Given the description of an element on the screen output the (x, y) to click on. 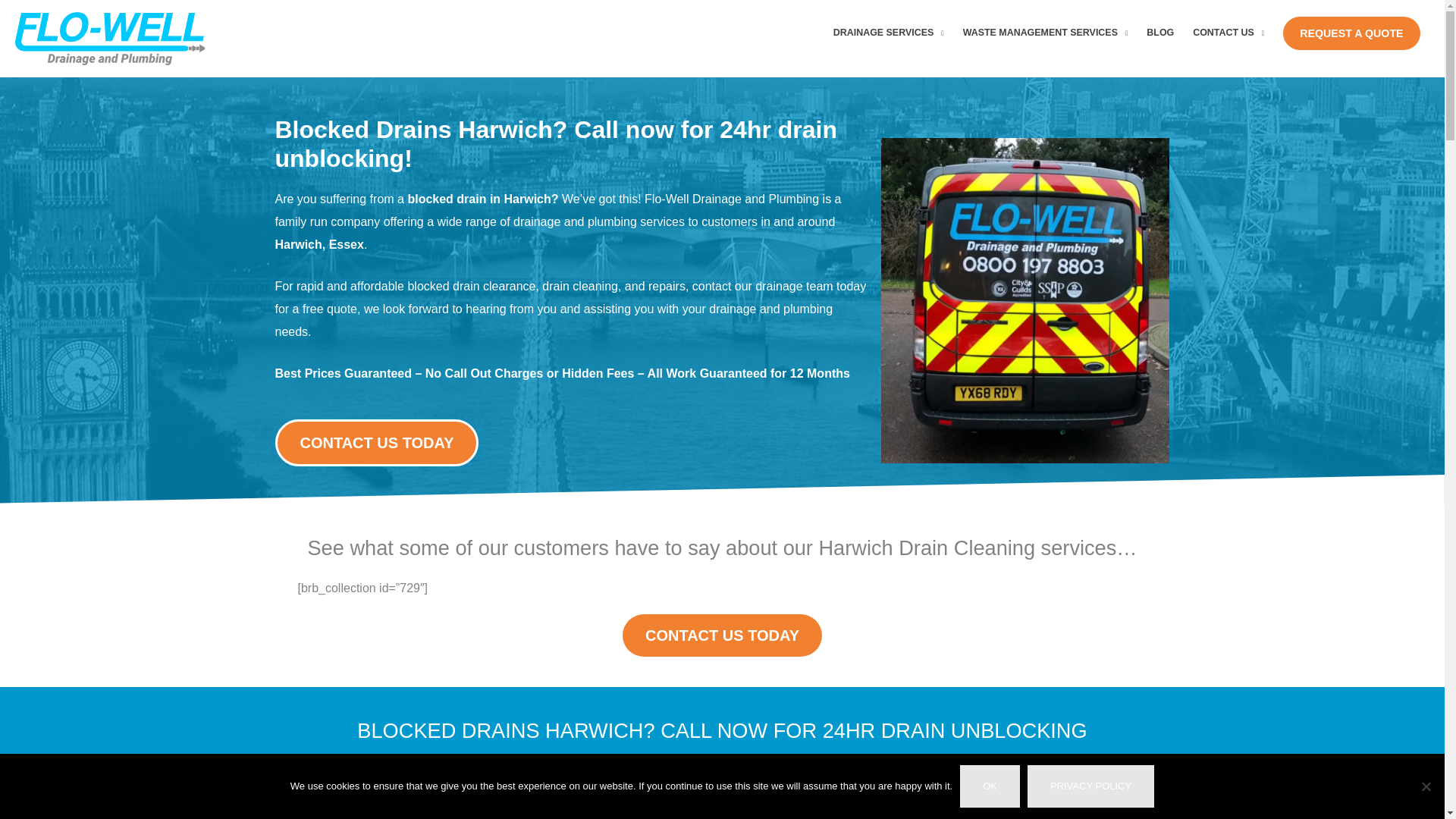
WASTE MANAGEMENT SERVICES (1045, 33)
DRAINAGE SERVICES (888, 33)
No (1425, 785)
BLOG (1160, 33)
CONTACT US (1228, 33)
